Given the description of an element on the screen output the (x, y) to click on. 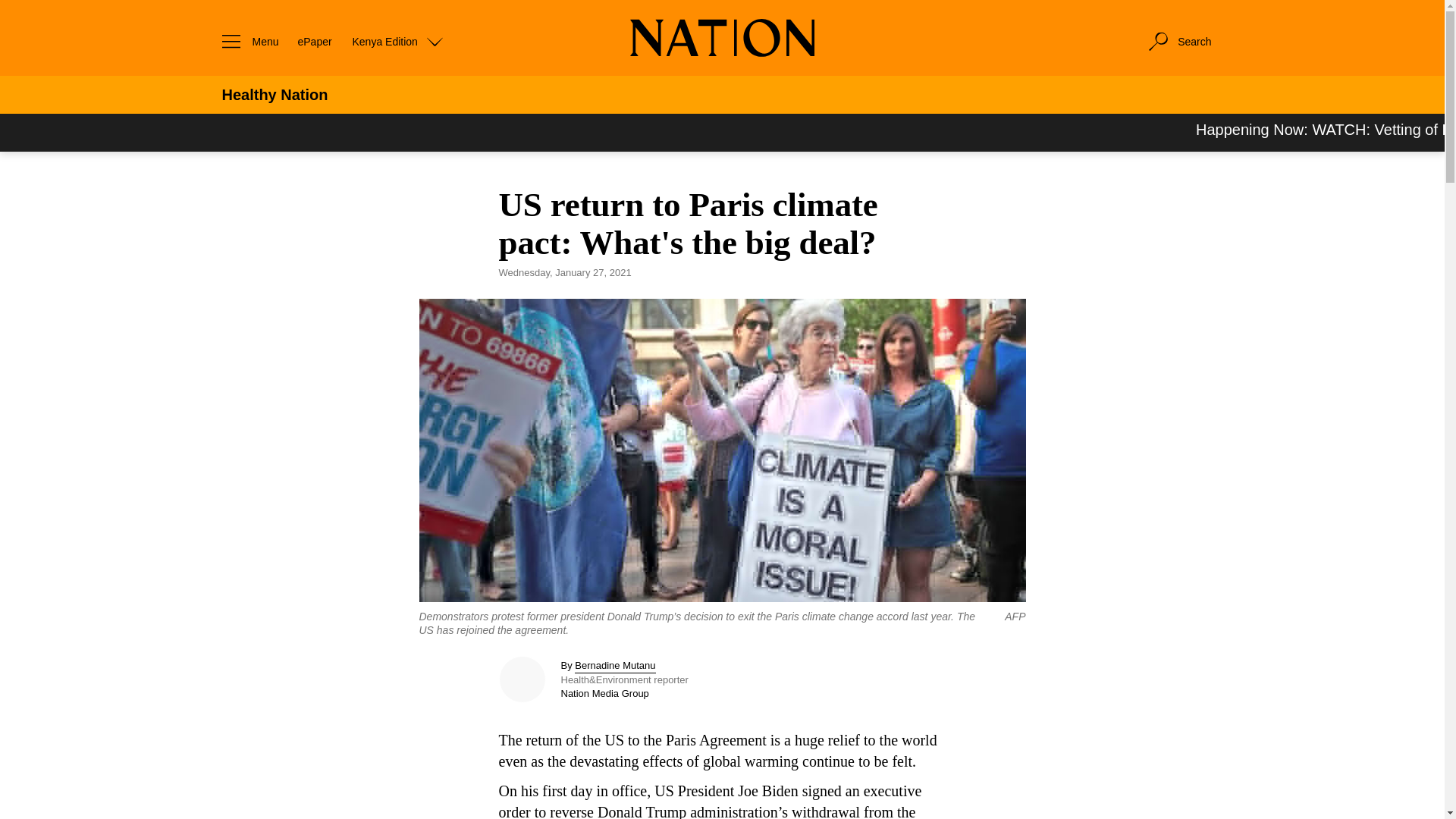
Menu (246, 41)
Search (1178, 41)
ePaper (314, 41)
Healthy Nation (274, 94)
Kenya Edition (398, 41)
